Given the description of an element on the screen output the (x, y) to click on. 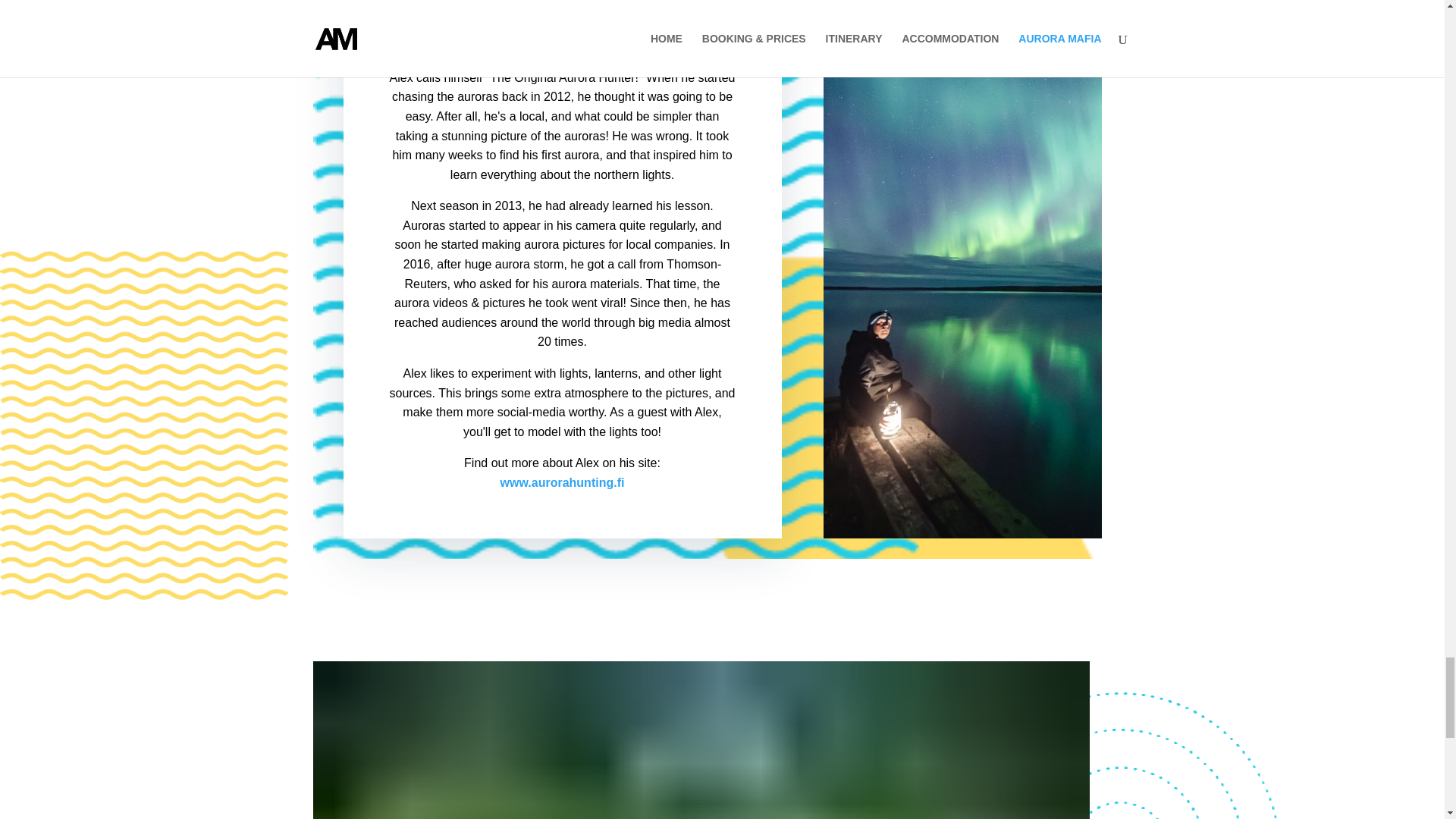
Aurora Mafia Team taking pictures of northern lights. (701, 739)
www.aurorahunting.fi (562, 481)
